Given the description of an element on the screen output the (x, y) to click on. 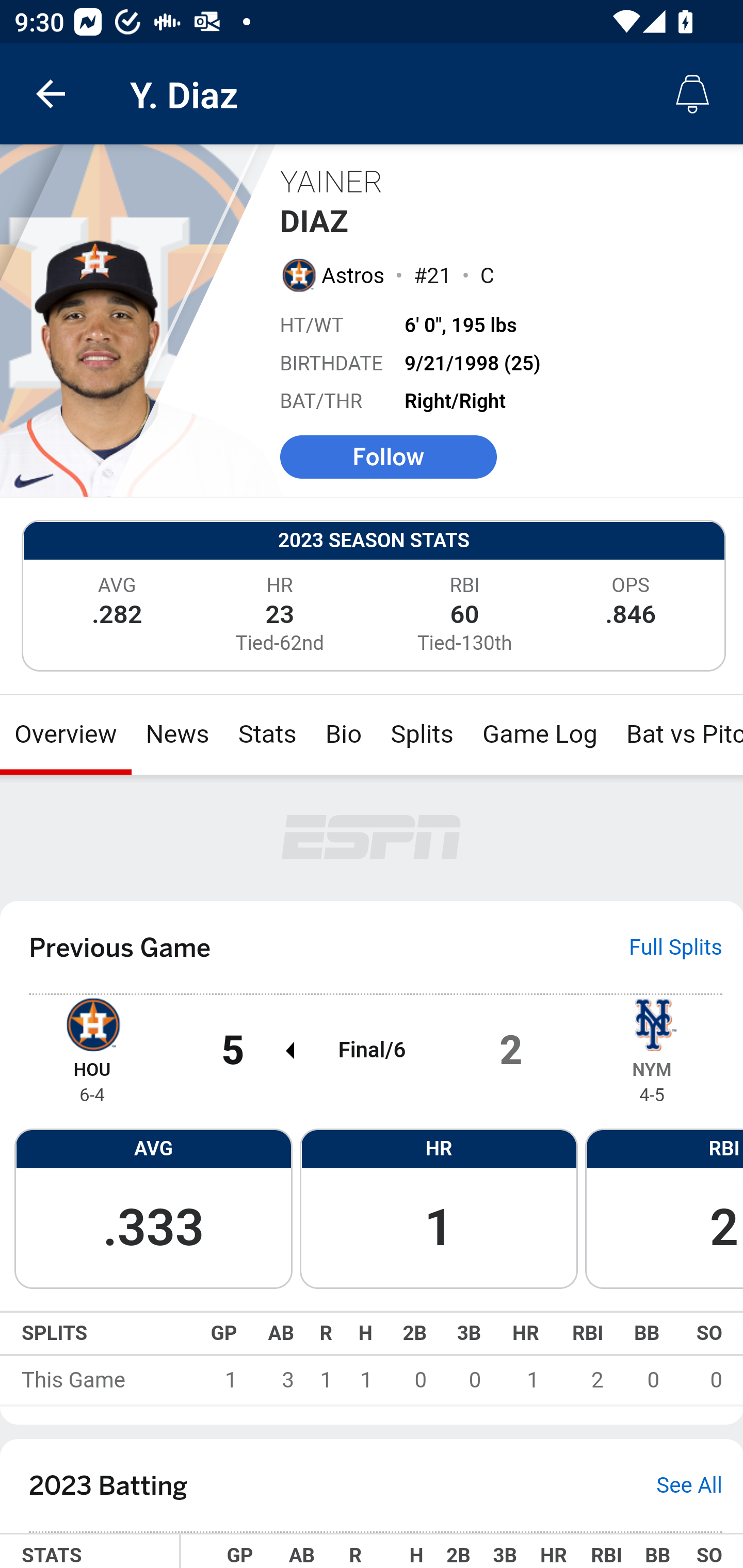
back.button (50, 93)
Alerts (692, 93)
Houston Astros (297, 274)
Astros (353, 274)
Follow (387, 455)
Overview (65, 734)
News (177, 734)
Stats (267, 734)
Bio (343, 734)
Splits (422, 734)
Game Log (538, 734)
Bat vs Pitch (676, 734)
Full Splits (675, 946)
Houston Astros (91, 1022)
New York Mets (651, 1022)
AVG .333 (153, 1206)
HR 1 (438, 1206)
RBI 2 (664, 1206)
See All (689, 1485)
